Given the description of an element on the screen output the (x, y) to click on. 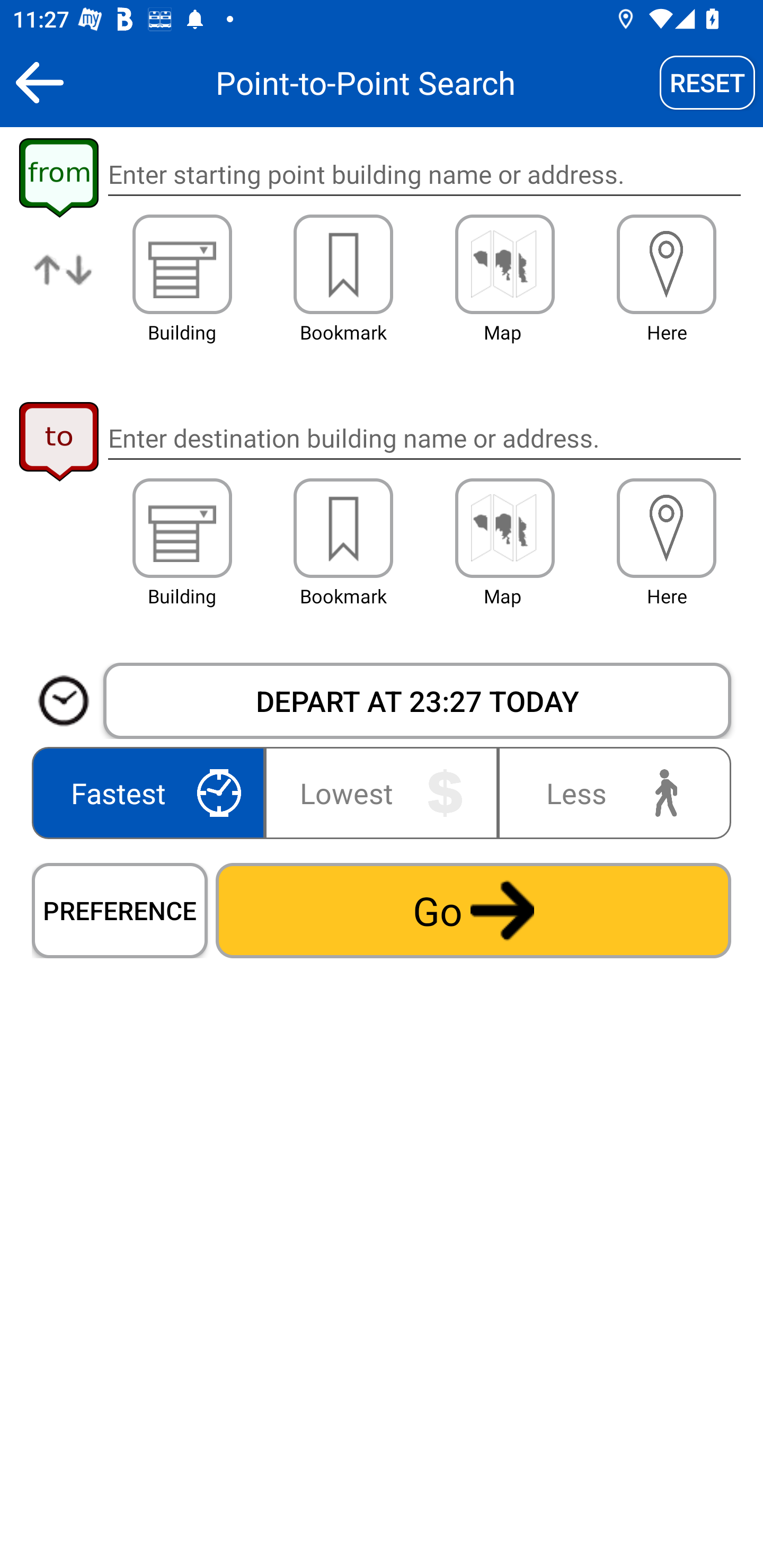
Back (39, 82)
RESET Reset (707, 81)
Enter starting point building name or address. (423, 174)
Building (181, 263)
Bookmarks (342, 263)
Select location on map (504, 263)
Here (666, 263)
Swap origin and destination (63, 284)
Enter destination building name or address. (423, 437)
Building (181, 528)
Bookmarks (342, 528)
Select location on map (504, 528)
Here (666, 528)
Lowest (381, 792)
Fastest selected (151, 792)
Less (610, 792)
PREFERENCE Preference (119, 910)
Go (472, 910)
